Given the description of an element on the screen output the (x, y) to click on. 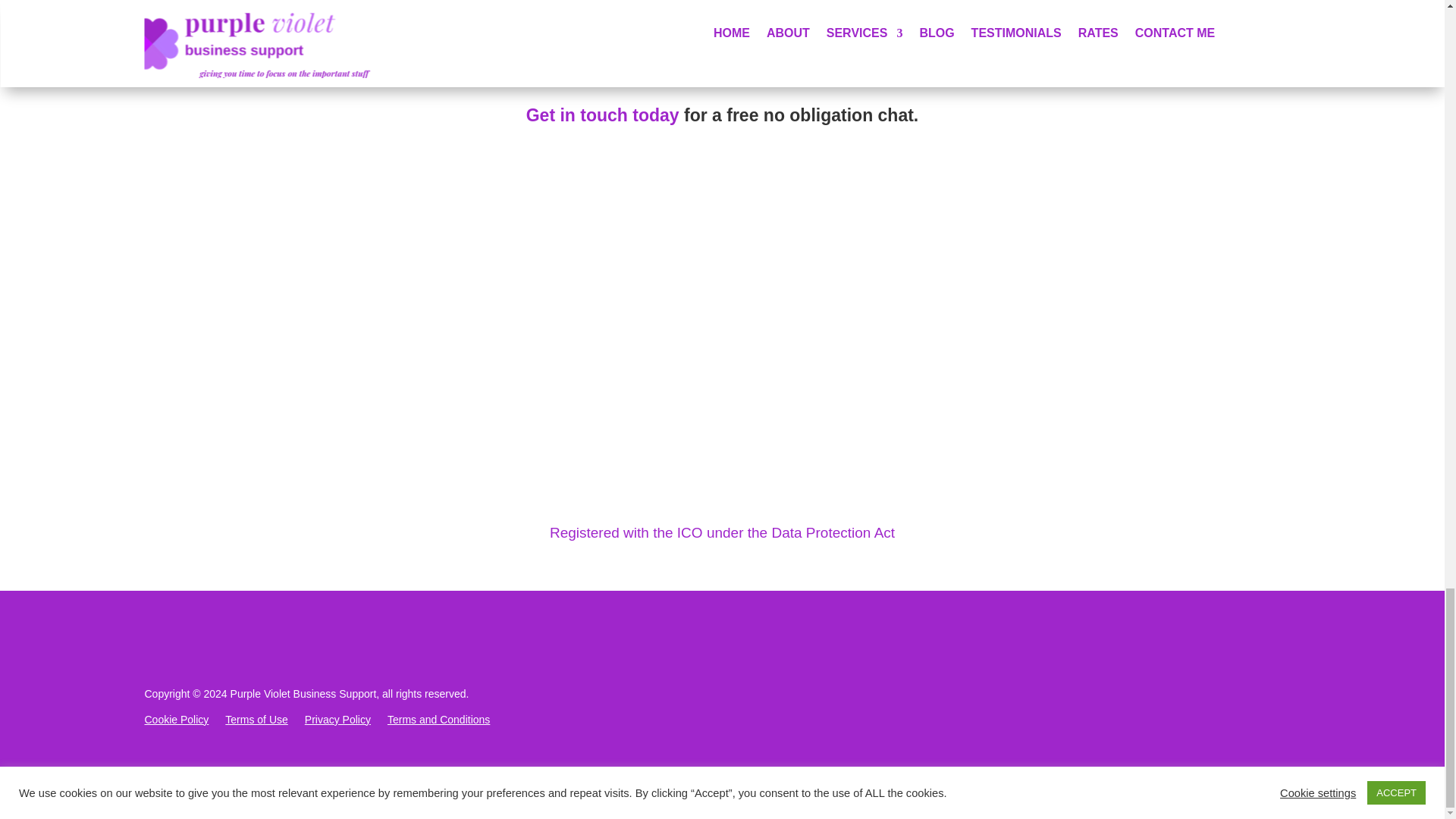
Registered with the ICO under the Data Protection Act (722, 532)
Terms of Use (255, 722)
Terms and Conditions (438, 722)
Get in touch today (602, 115)
Privacy Policy (337, 722)
Cookie Policy (176, 722)
